Given the description of an element on the screen output the (x, y) to click on. 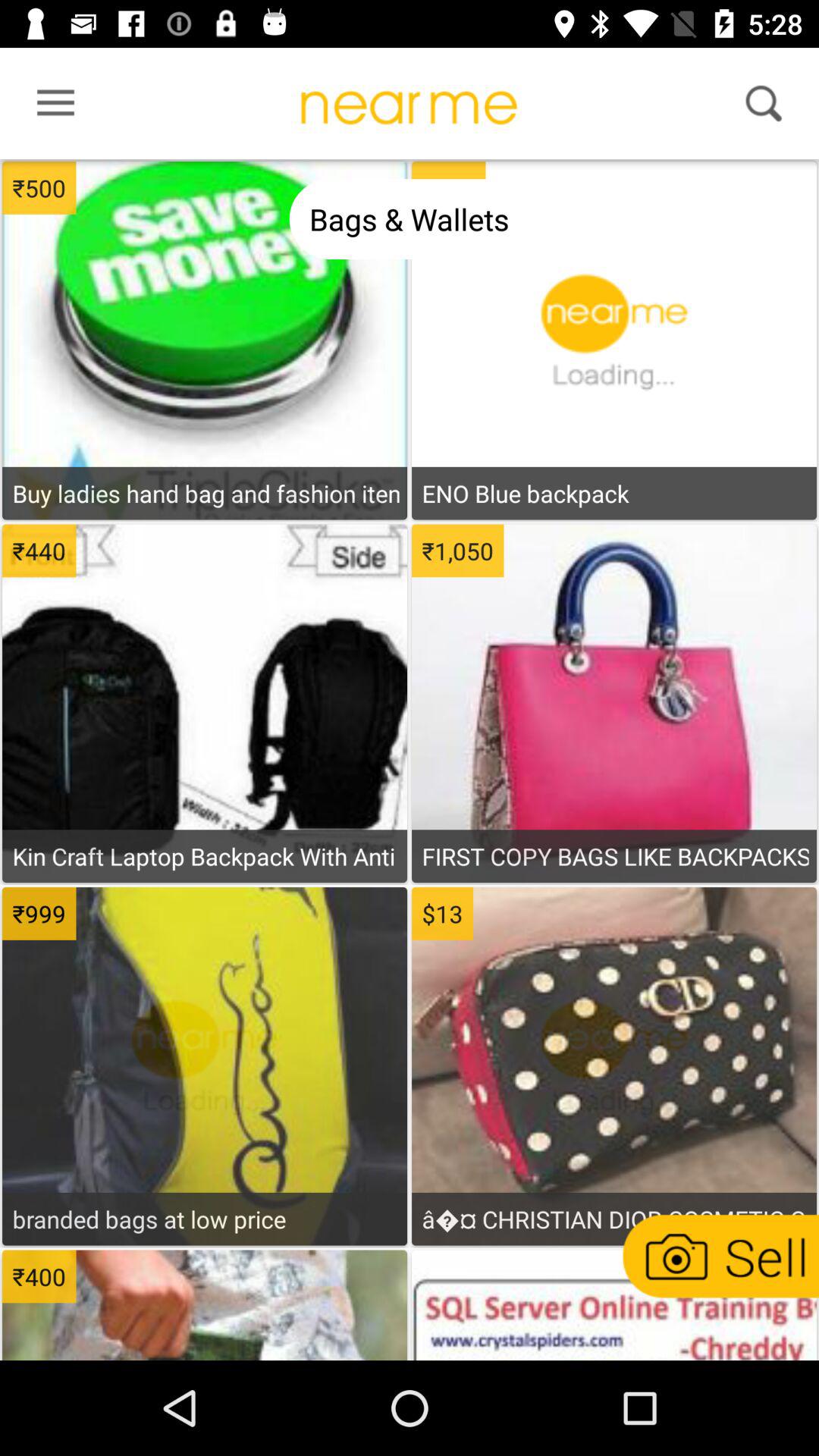
see item (205, 816)
